Given the description of an element on the screen output the (x, y) to click on. 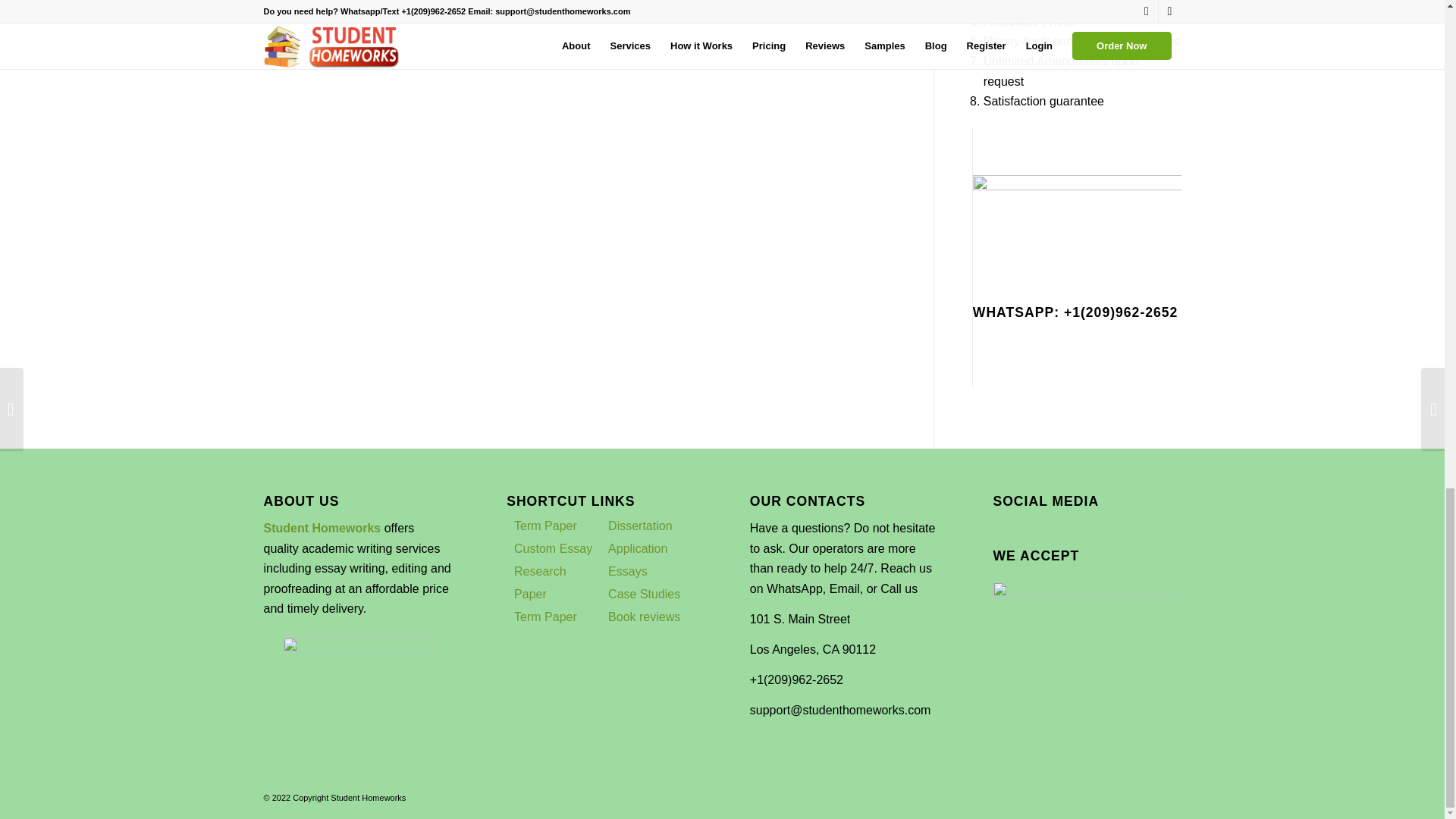
Case Studies (643, 594)
Term Paper (544, 525)
Custom Essay (552, 548)
Application Essays (637, 560)
Term Paper (544, 616)
Research Paper (539, 582)
Book reviews (643, 616)
Dissertation (639, 525)
